Given the description of an element on the screen output the (x, y) to click on. 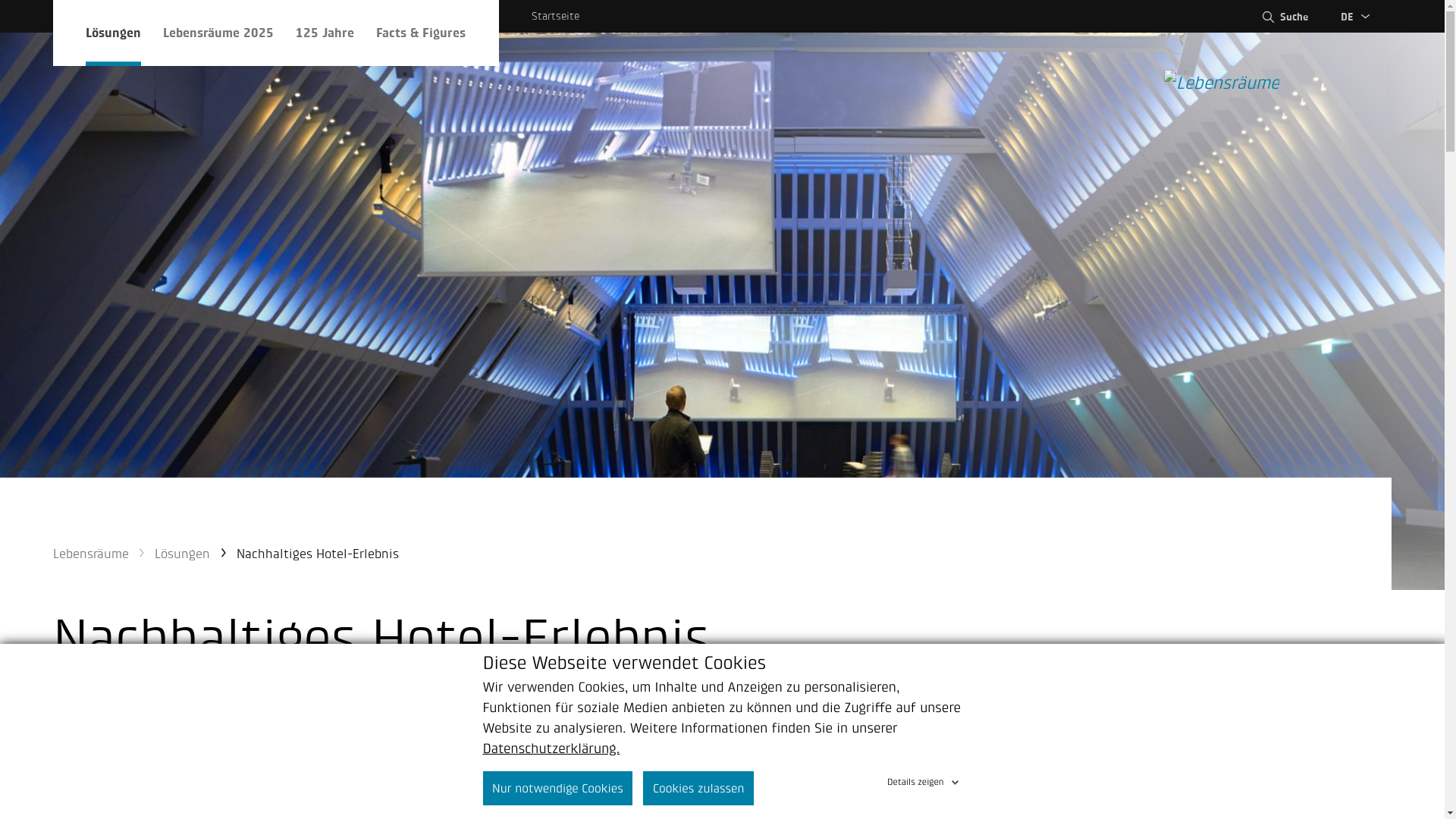
Facts & Figures Element type: text (420, 32)
Startseite Element type: text (555, 16)
DE Element type: text (1357, 16)
Suche Element type: text (1283, 16)
125 Jahre Element type: text (324, 32)
Nur notwendige Cookies Element type: text (557, 788)
Cookies zulassen Element type: text (698, 788)
Details zeigen Element type: text (924, 779)
